Given the description of an element on the screen output the (x, y) to click on. 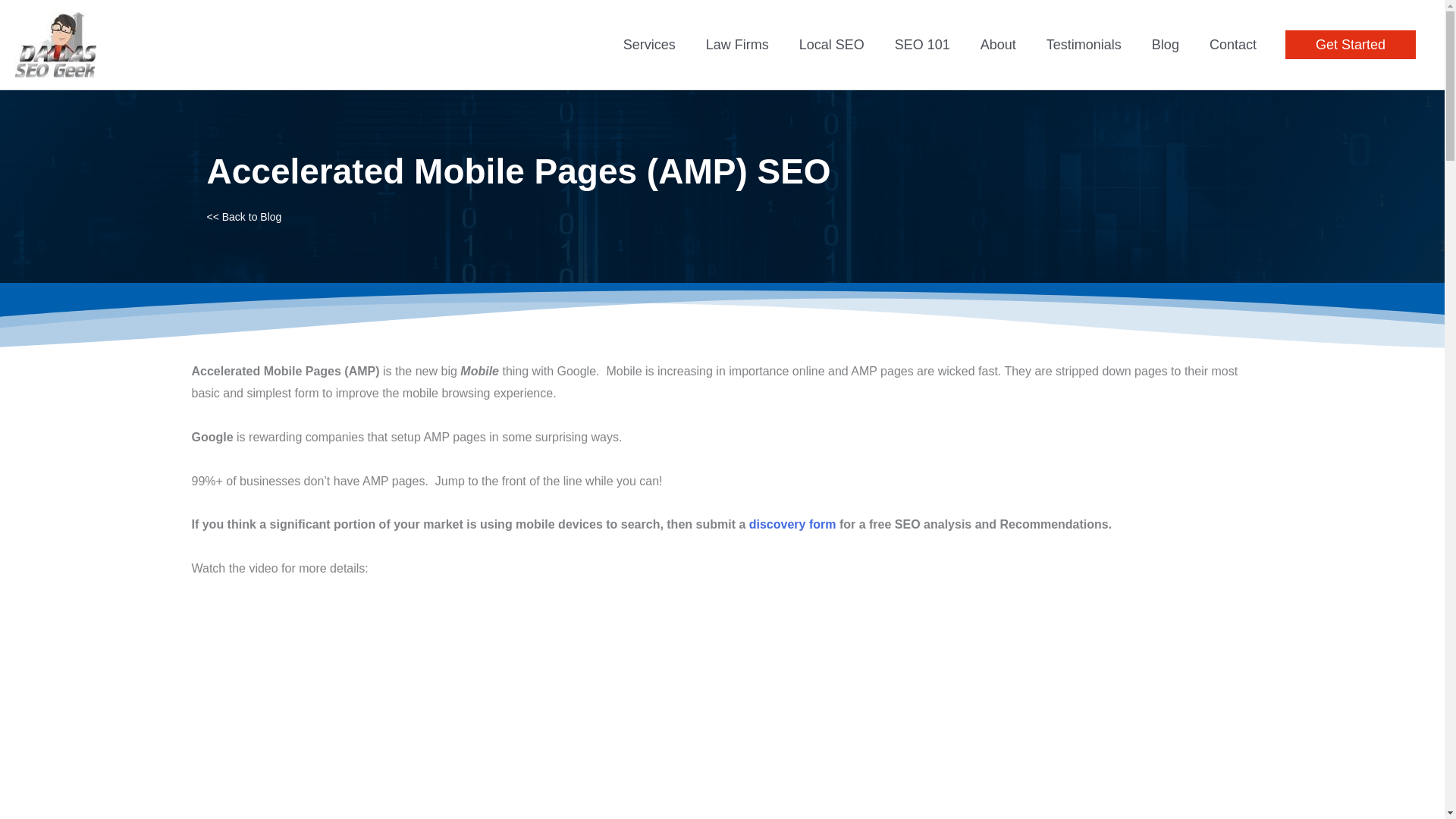
Local SEO (831, 44)
Services (649, 44)
SEO 101 (922, 44)
Get Started (1350, 44)
Law Firms (737, 44)
Testimonials (1083, 44)
discovery form (792, 523)
